Given the description of an element on the screen output the (x, y) to click on. 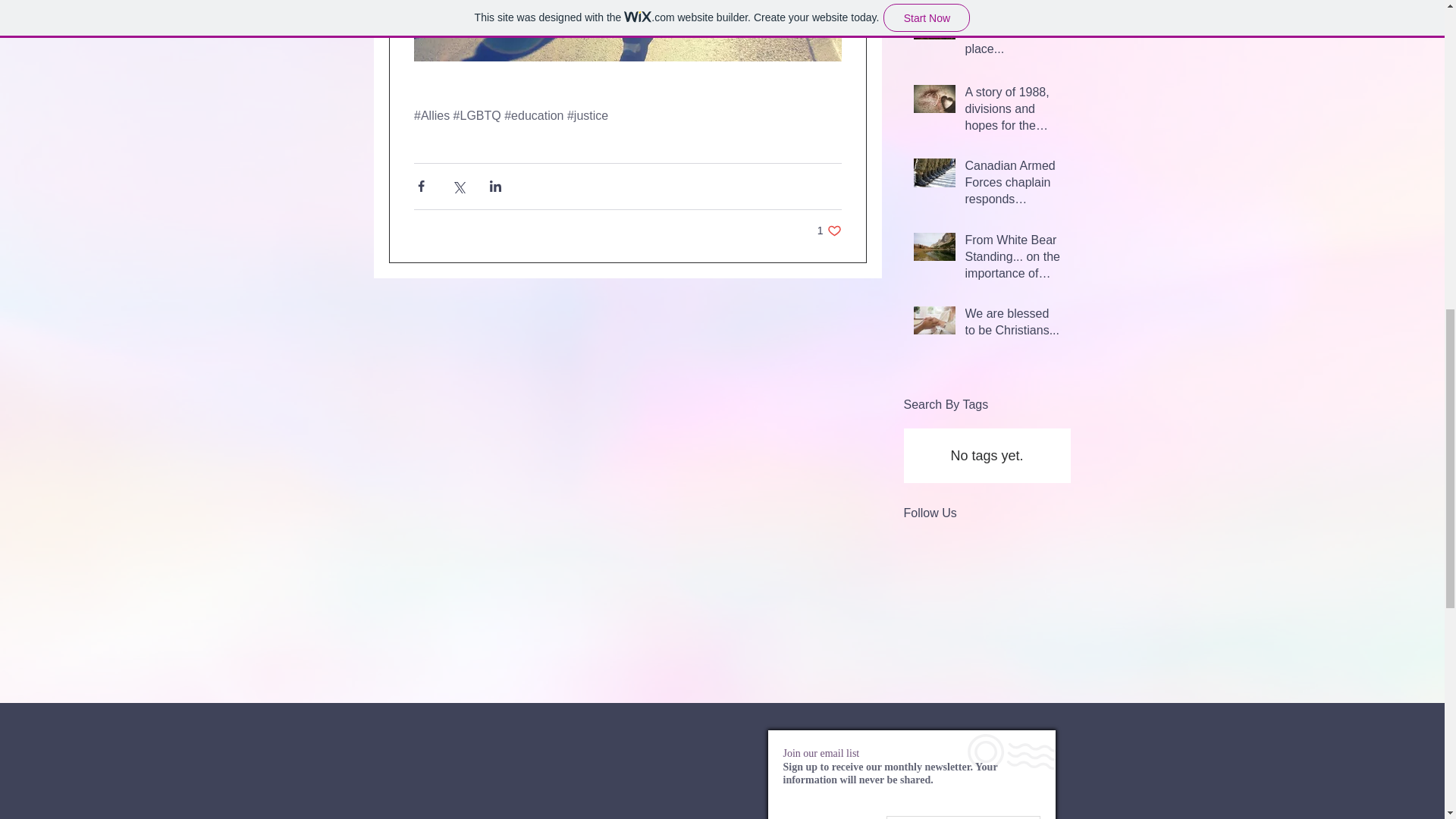
A story of 1988, divisions and hopes for the future (1012, 112)
We are blessed to be Christians... (828, 230)
The church has been a safe place... (1012, 325)
